Given the description of an element on the screen output the (x, y) to click on. 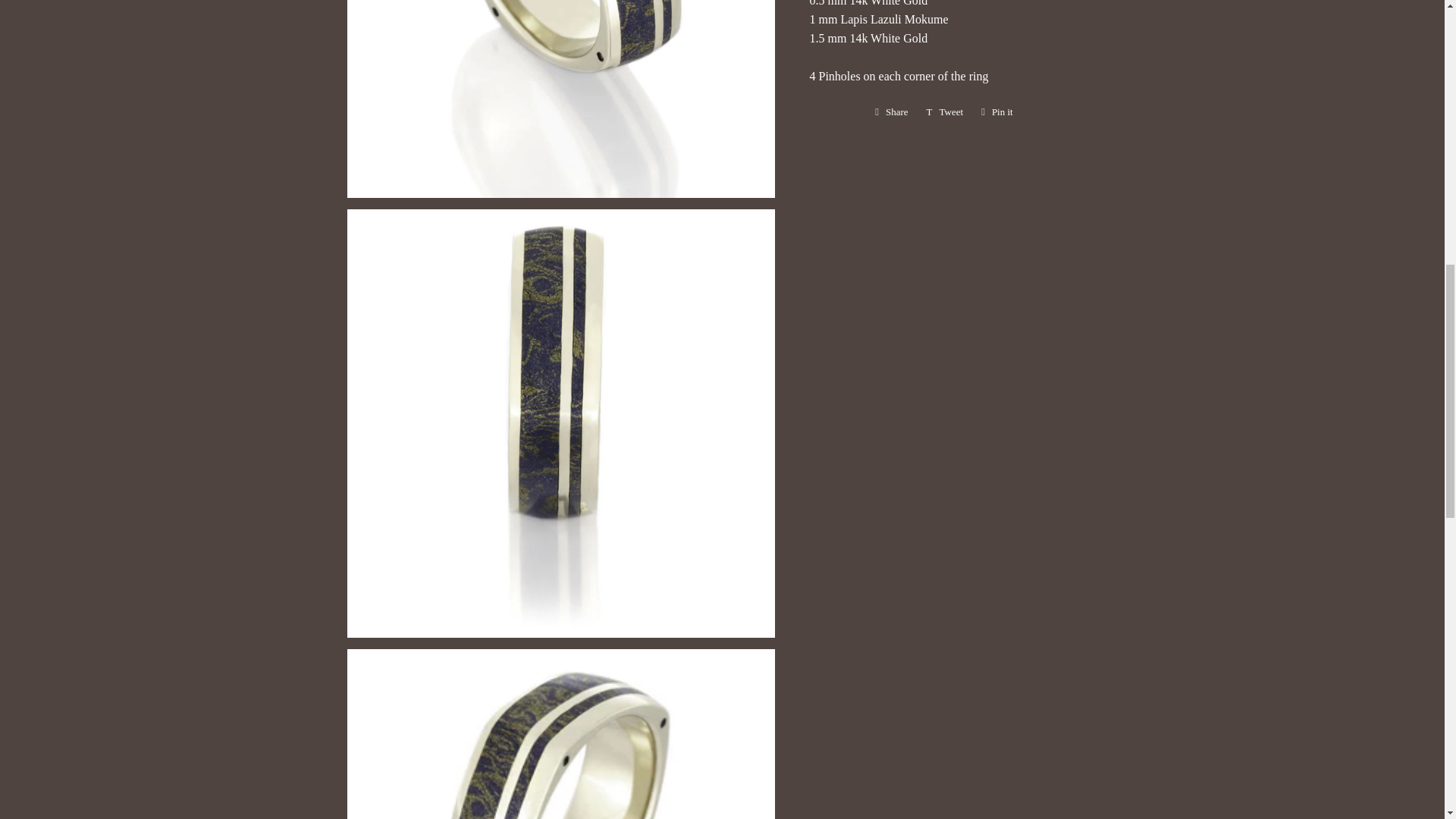
Share on Facebook (997, 111)
Pin on Pinterest (891, 111)
Tweet on Twitter (997, 111)
